Given the description of an element on the screen output the (x, y) to click on. 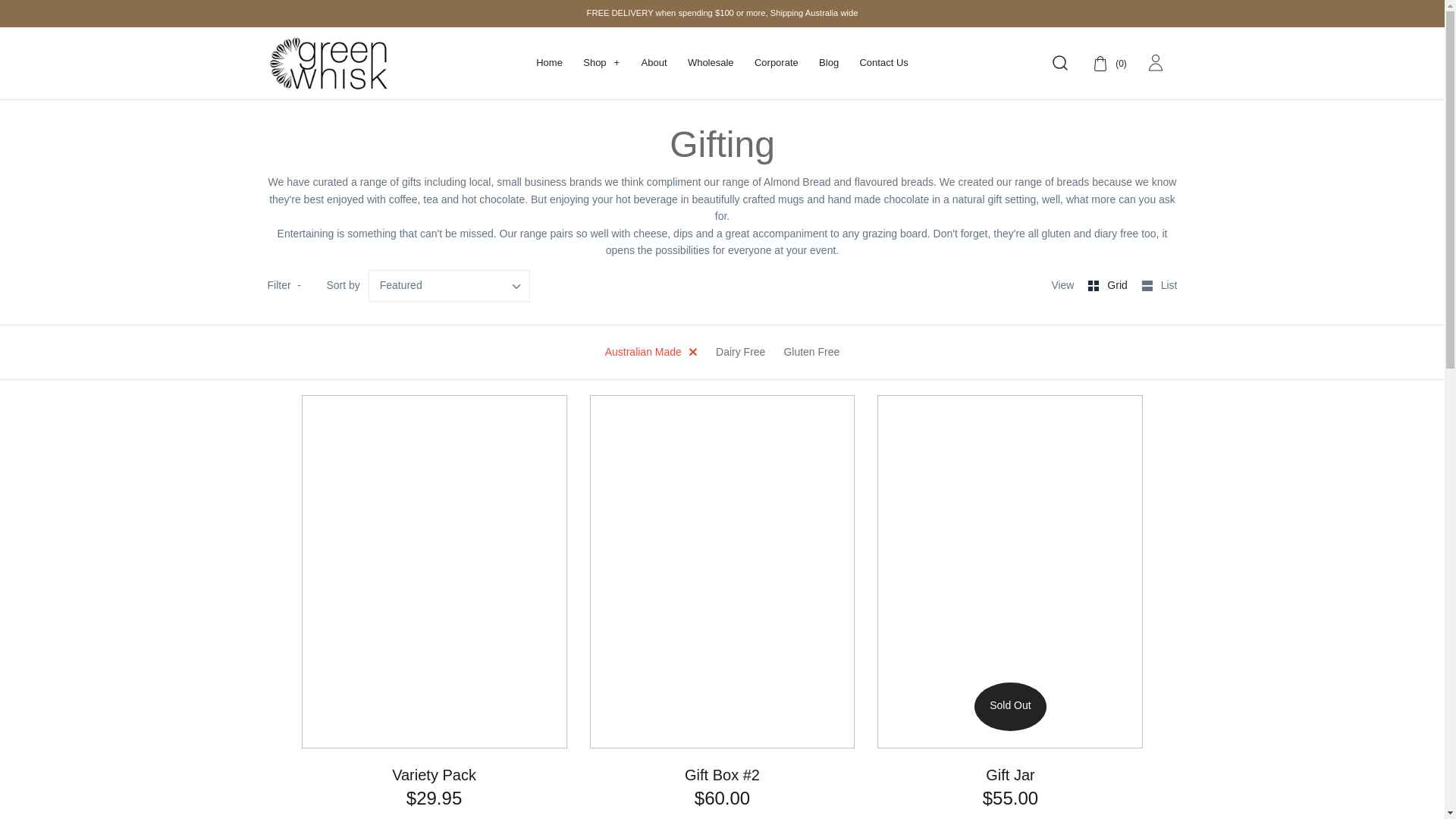
Narrow selection to products matching tag Dairy Free (740, 352)
Home (549, 62)
Featured (408, 285)
List (1159, 285)
About (654, 62)
Corporate (776, 62)
View Product (722, 814)
View Product (434, 814)
View Product (1009, 814)
Wholesale (710, 62)
Gluten Free (811, 352)
Remove tag Australian Made (650, 352)
Narrow selection to products matching tag Gluten Free (811, 352)
Filter - (285, 285)
Dairy Free (740, 352)
